Given the description of an element on the screen output the (x, y) to click on. 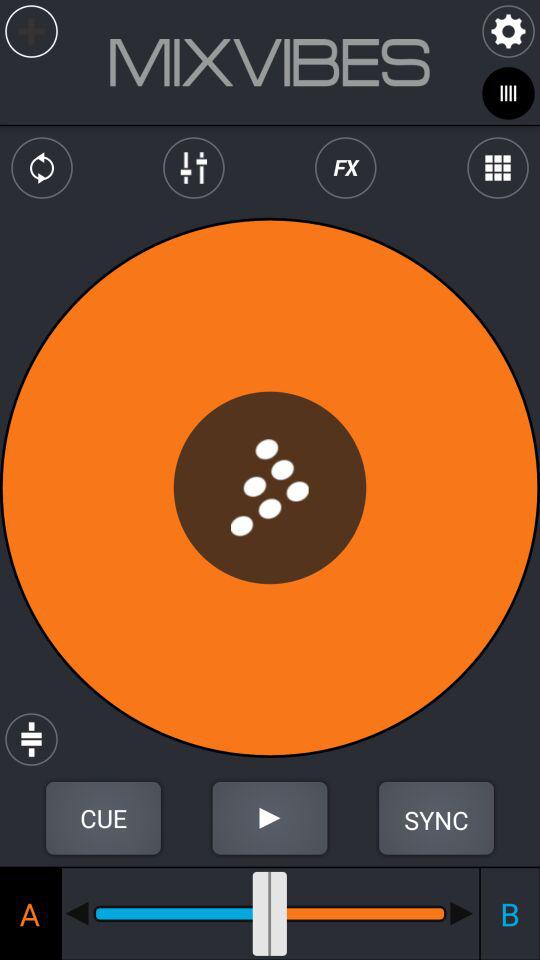
choose the item above a item (103, 818)
